Given the description of an element on the screen output the (x, y) to click on. 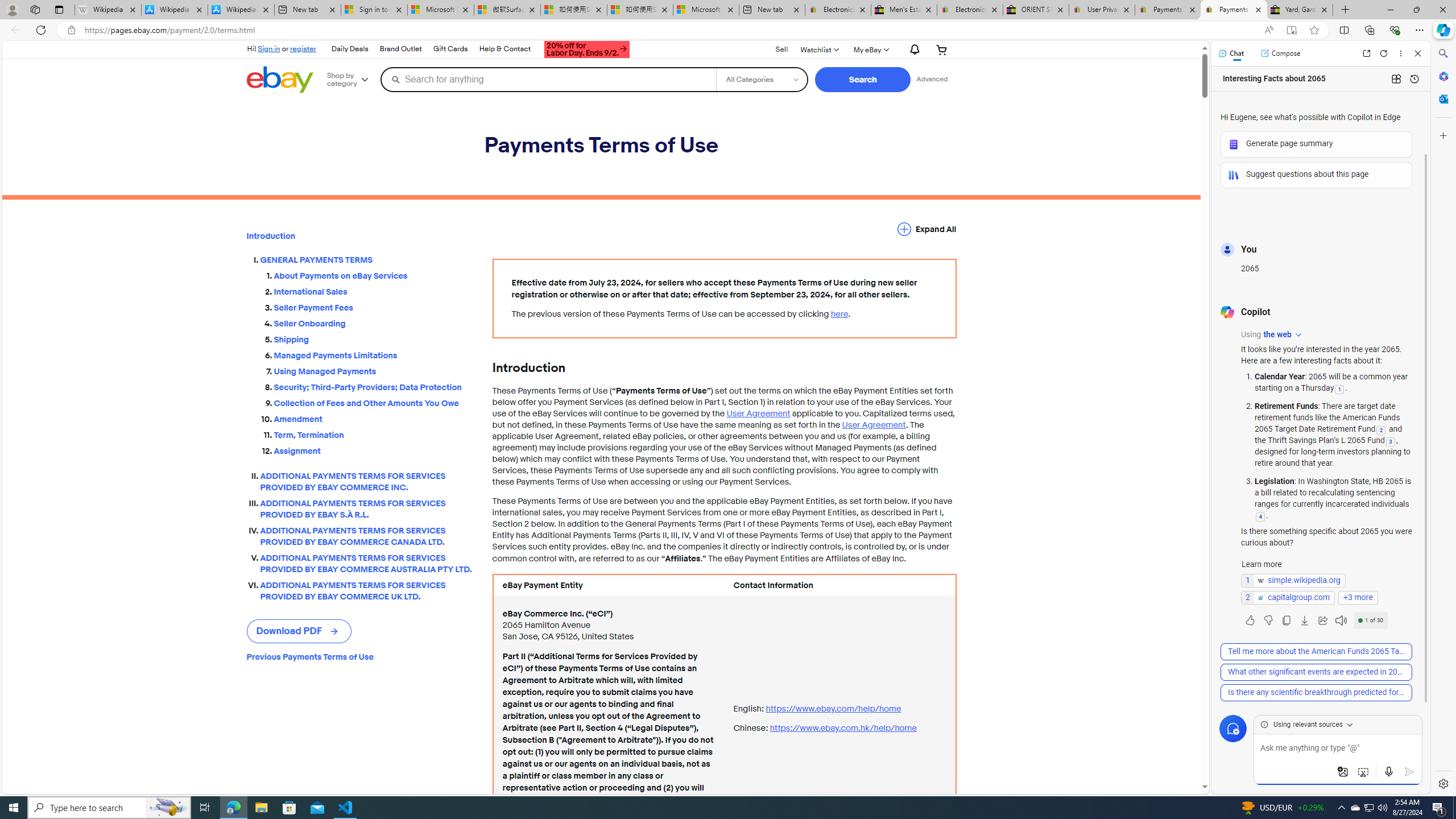
User Agreement (873, 424)
Microsoft account | Account Checkup (706, 9)
Sign in (269, 48)
Gift Cards (449, 49)
Shipping (373, 337)
Sell (781, 49)
Shipping (373, 339)
Class: ski-btn__arrow (334, 631)
Your shopping cart (941, 49)
